Given the description of an element on the screen output the (x, y) to click on. 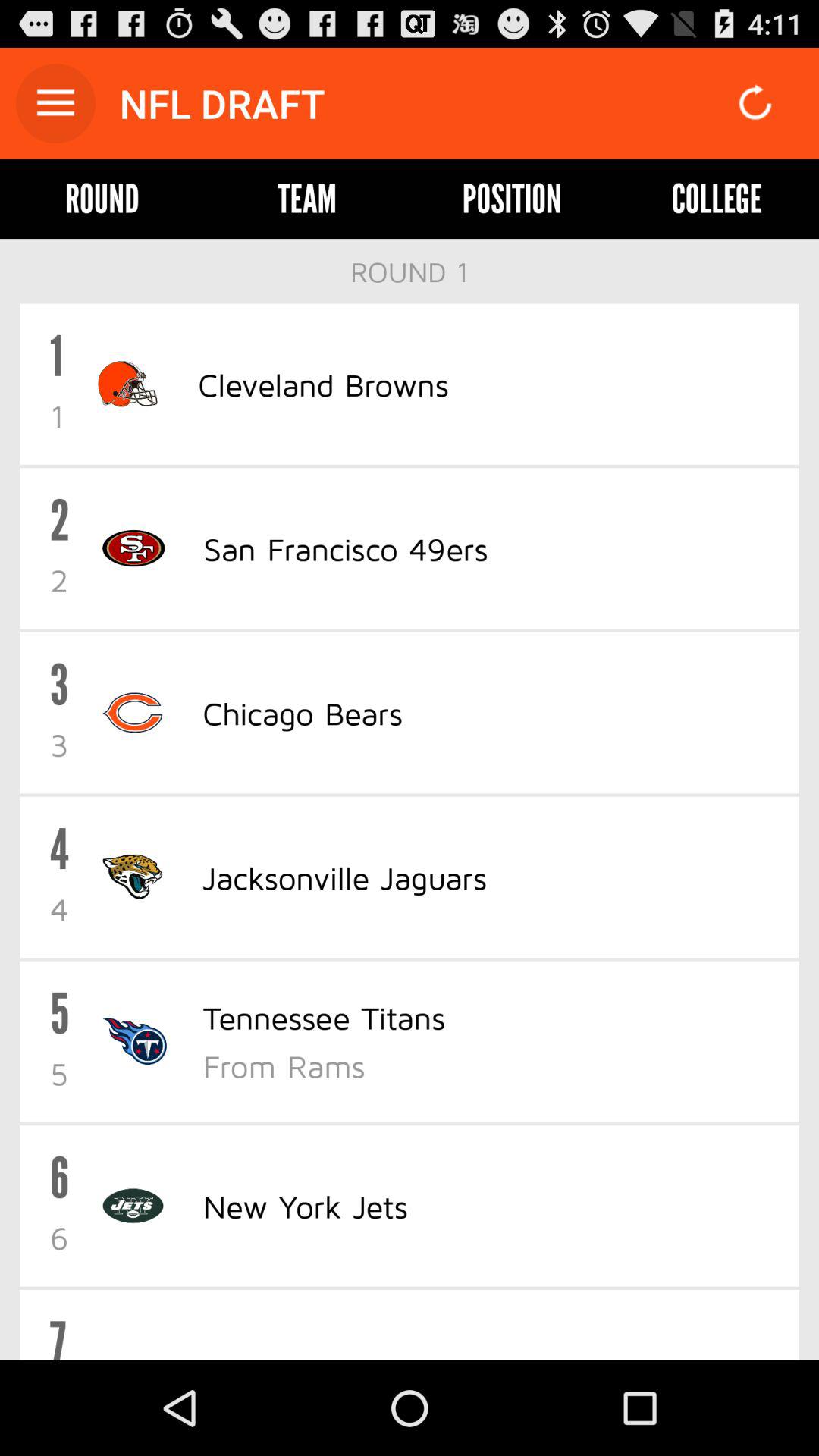
swipe until los angeles chargers item (353, 1355)
